Given the description of an element on the screen output the (x, y) to click on. 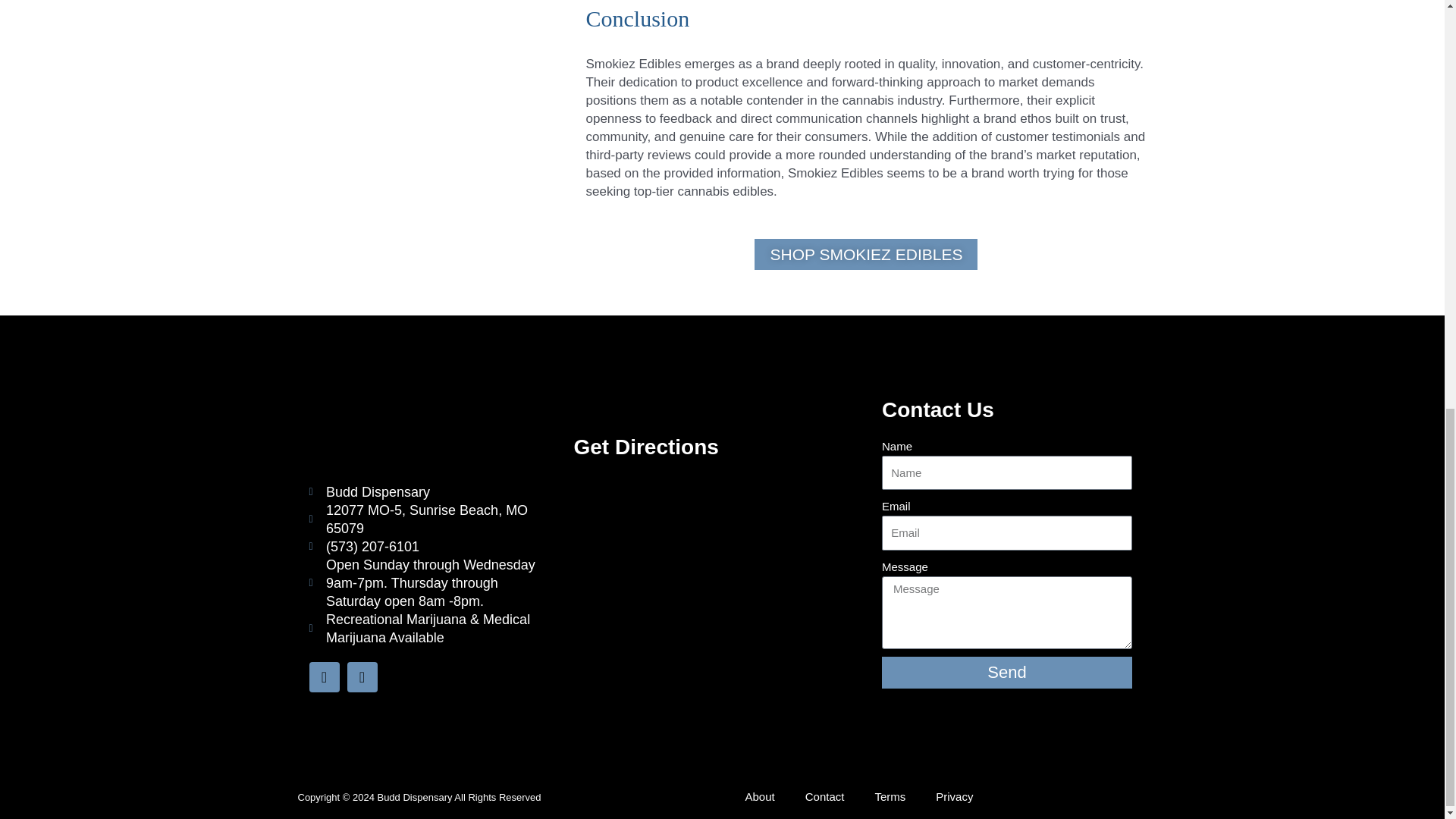
SHOP SMOKIEZ EDIBLES (865, 254)
Facebook (323, 676)
Privacy (954, 796)
Send (1007, 672)
Instagram (362, 676)
Get Directions (645, 446)
Terms (889, 796)
Contact (825, 796)
About (759, 796)
